Given the description of an element on the screen output the (x, y) to click on. 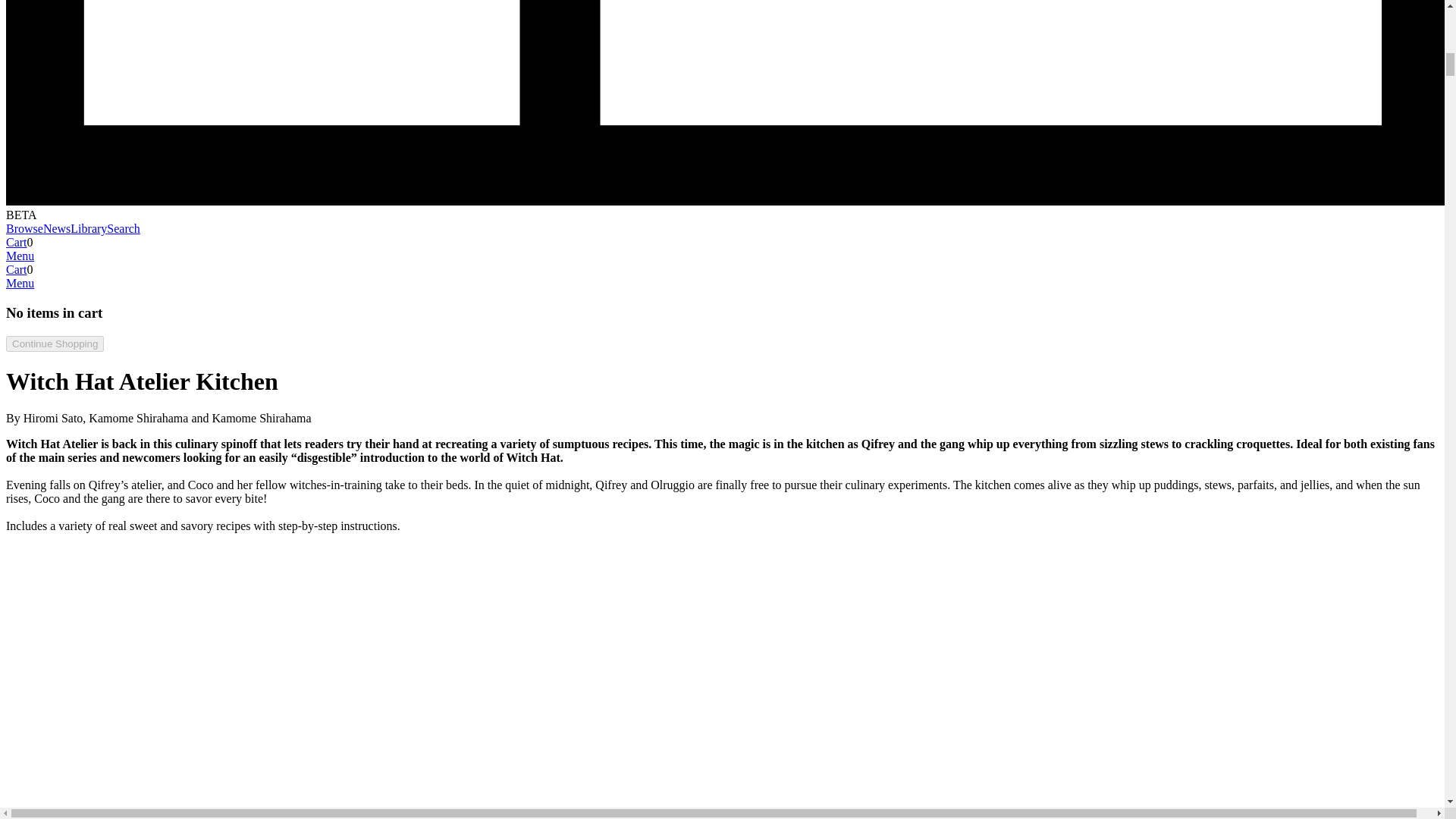
Search (122, 228)
News (56, 228)
Menu (19, 255)
Cart (16, 241)
Library (87, 228)
Cart (16, 269)
Browse (24, 228)
Continue Shopping (54, 342)
Menu (19, 282)
